Given the description of an element on the screen output the (x, y) to click on. 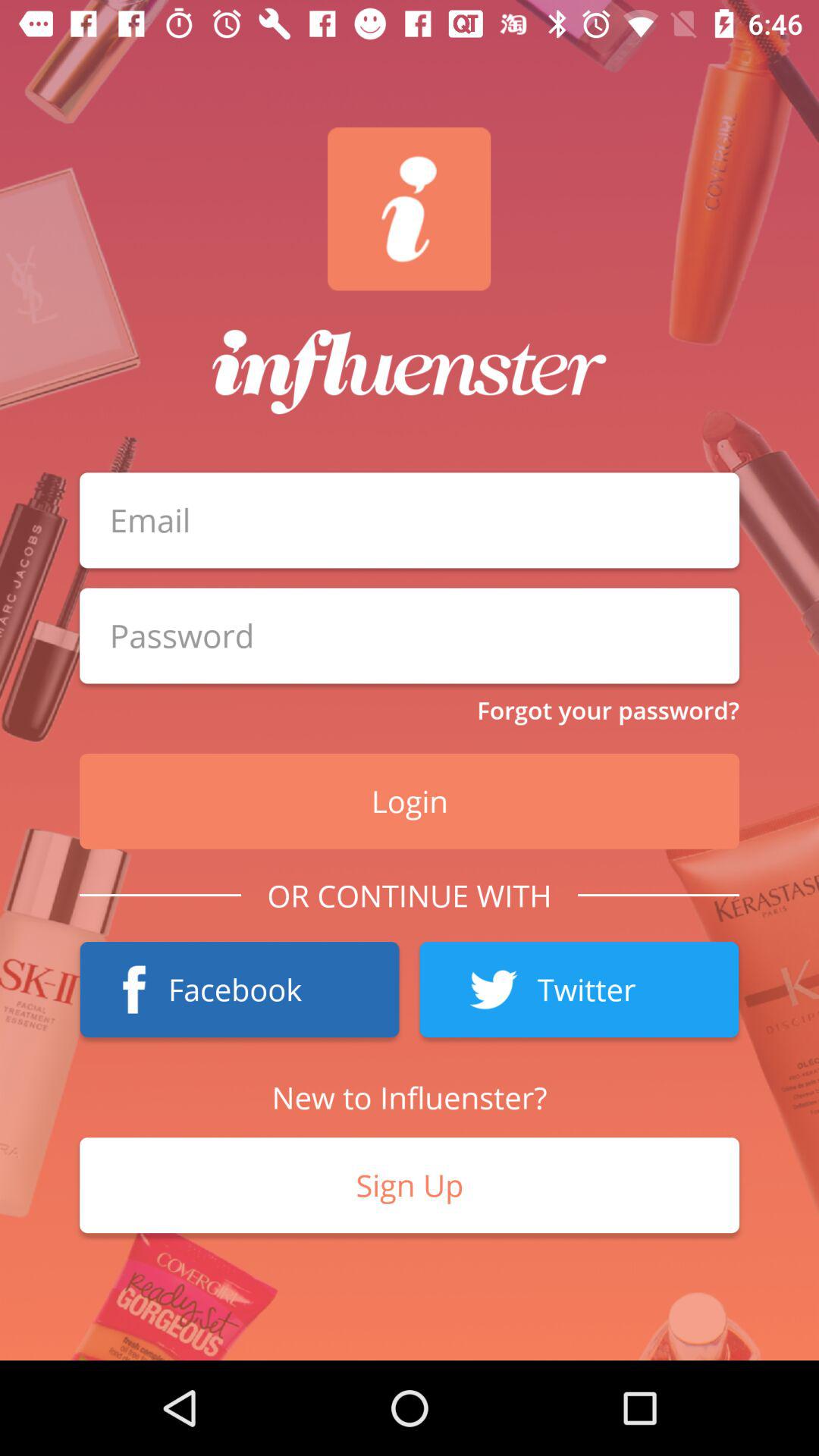
password button (409, 635)
